Given the description of an element on the screen output the (x, y) to click on. 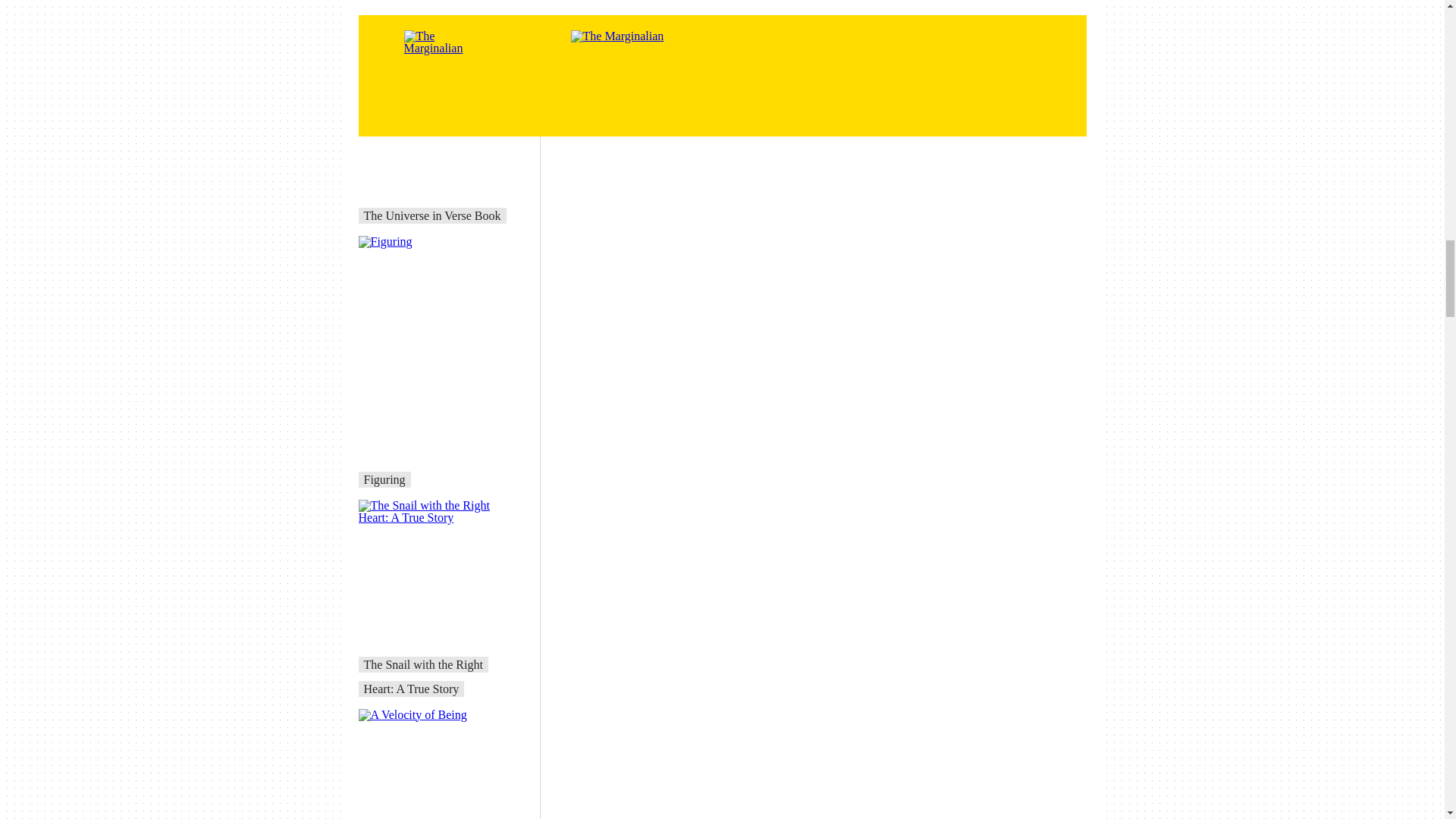
The Universe in Verse Book (432, 215)
Figuring (385, 479)
The Snail with the Right Heart: A True Story (423, 676)
